Given the description of an element on the screen output the (x, y) to click on. 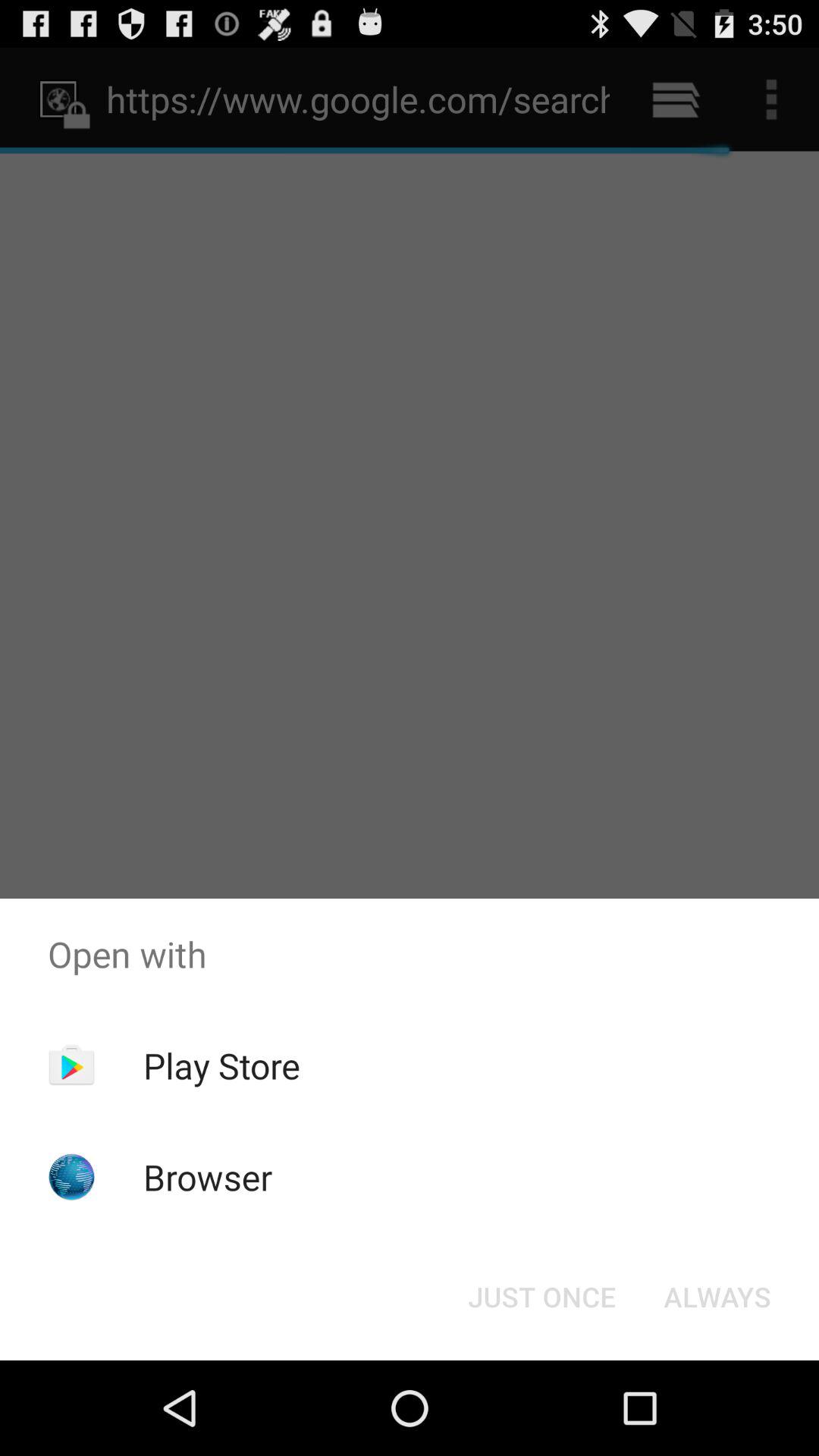
turn off always at the bottom right corner (717, 1296)
